Given the description of an element on the screen output the (x, y) to click on. 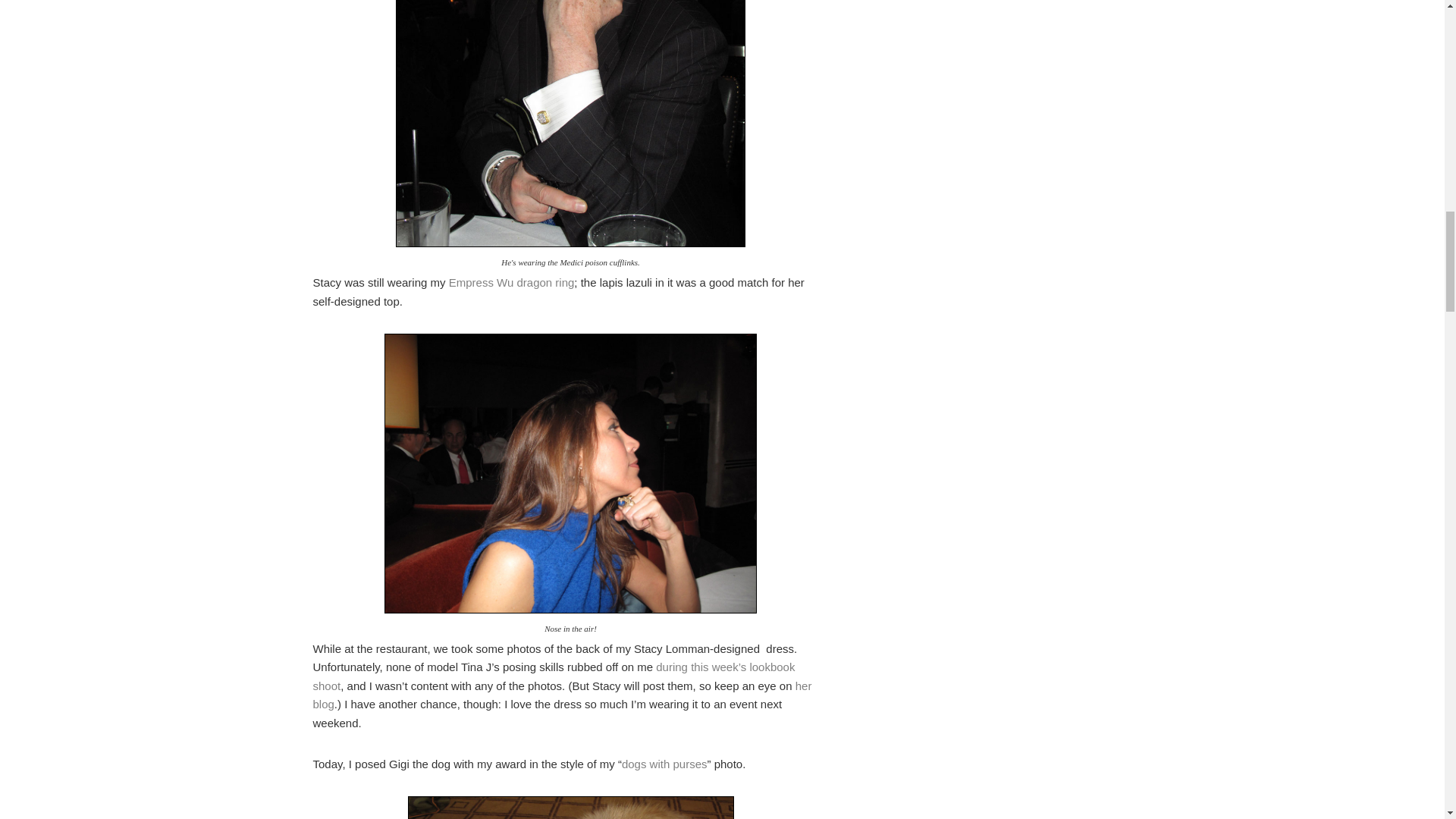
dogs with purses (664, 763)
her blog (561, 694)
risingpaul (570, 123)
Empress Wu dragon ring (511, 282)
risinggigi (570, 807)
risingstacyring (570, 473)
